Given the description of an element on the screen output the (x, y) to click on. 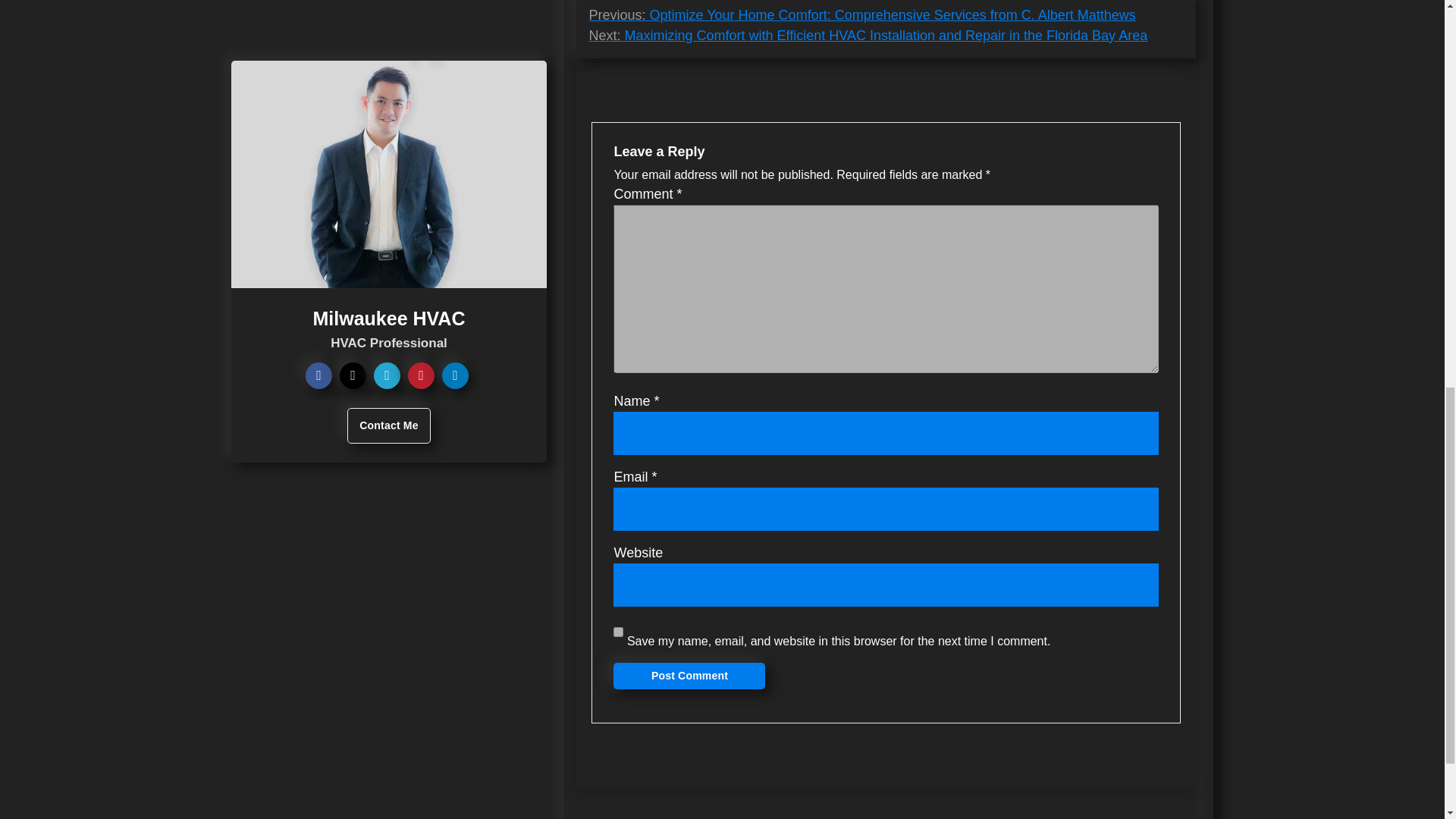
Post Comment (688, 675)
Post Comment (688, 675)
yes (617, 632)
